Given the description of an element on the screen output the (x, y) to click on. 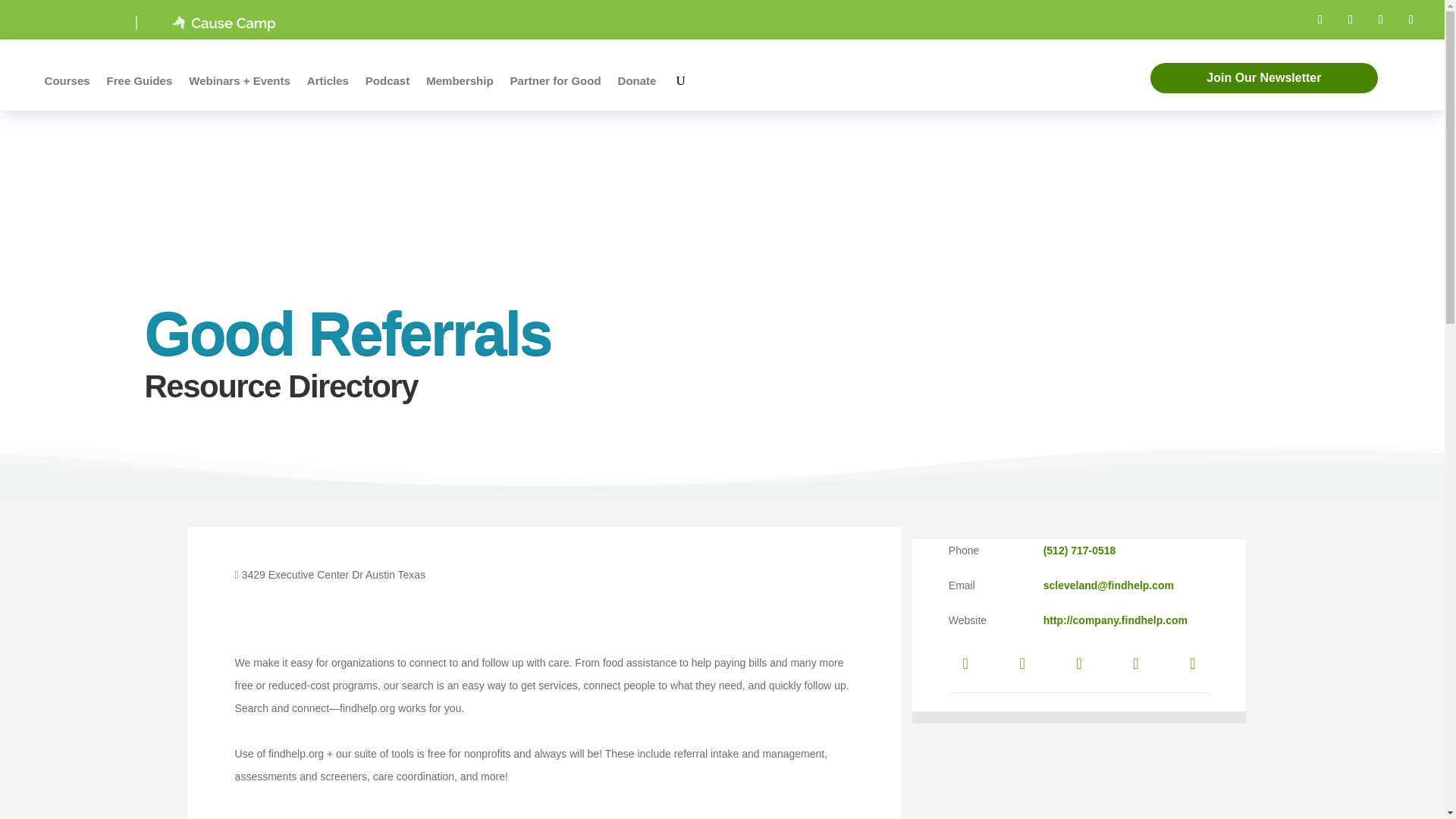
Follow on Youtube (1411, 19)
Join Our Newsletter (1263, 78)
Follow on LinkedIn (1380, 19)
Free Guides (139, 80)
Follow on X (1350, 19)
Partner for Good (556, 80)
Follow on Facebook (1319, 19)
Membership (459, 80)
